Given the description of an element on the screen output the (x, y) to click on. 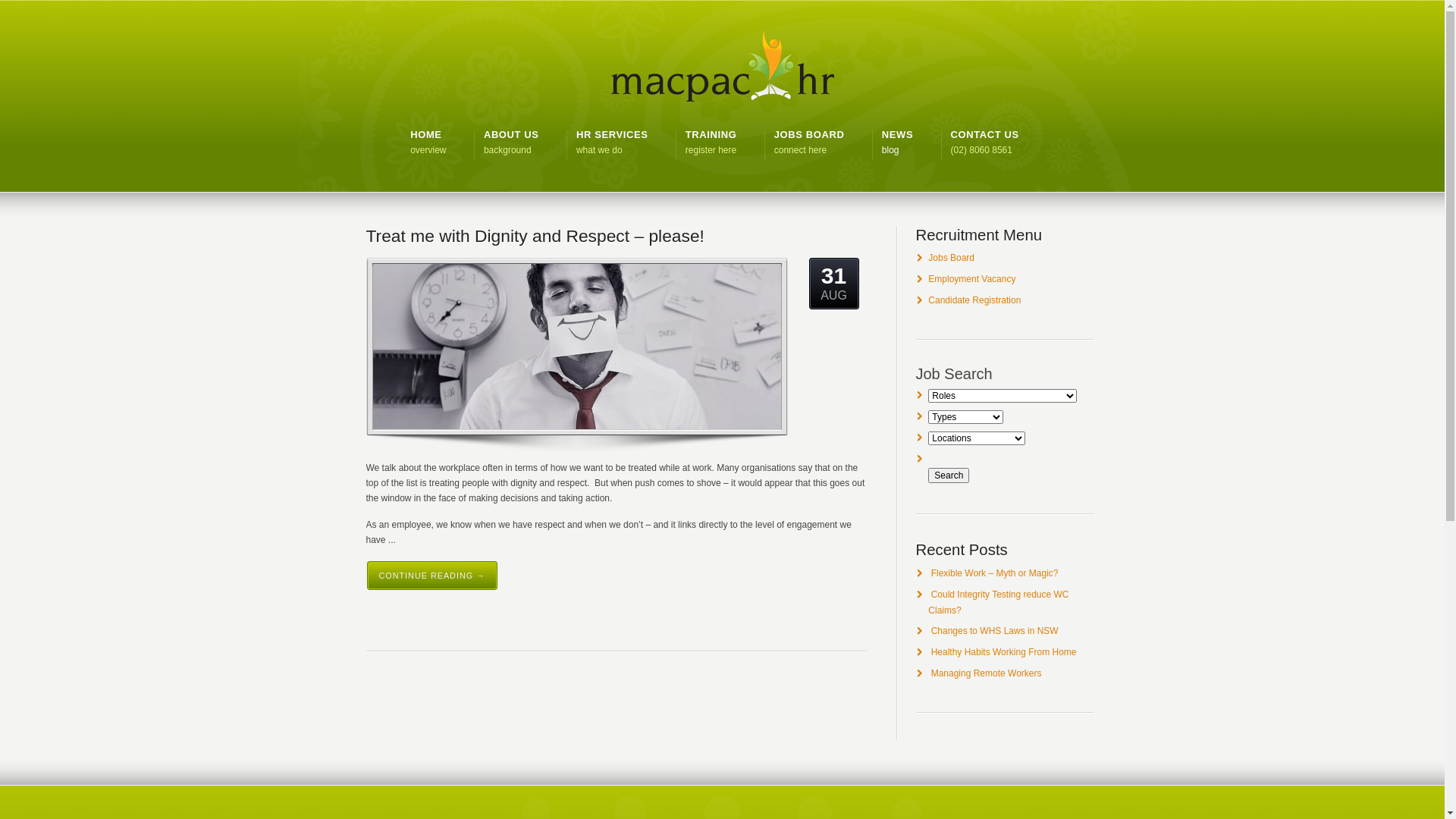
Changes to WHS Laws in NSW Element type: text (994, 630)
Candidate Registration Element type: text (974, 299)
ABOUT US
background Element type: text (511, 142)
HOME
overview Element type: text (427, 142)
NEWS
blog Element type: text (897, 142)
TRAINING
register here Element type: text (711, 142)
Jobs Board Element type: text (951, 257)
Healthy Habits Working From Home Element type: text (1003, 651)
CONTACT US
(02) 8060 8561 Element type: text (984, 142)
JOBS BOARD
connect here Element type: text (809, 142)
Employment Vacancy Element type: text (971, 278)
Search Element type: text (948, 475)
HR SERVICES
what we do Element type: text (612, 142)
Managing Remote Workers Element type: text (986, 673)
Could Integrity Testing reduce WC Claims? Element type: text (998, 602)
